Given the description of an element on the screen output the (x, y) to click on. 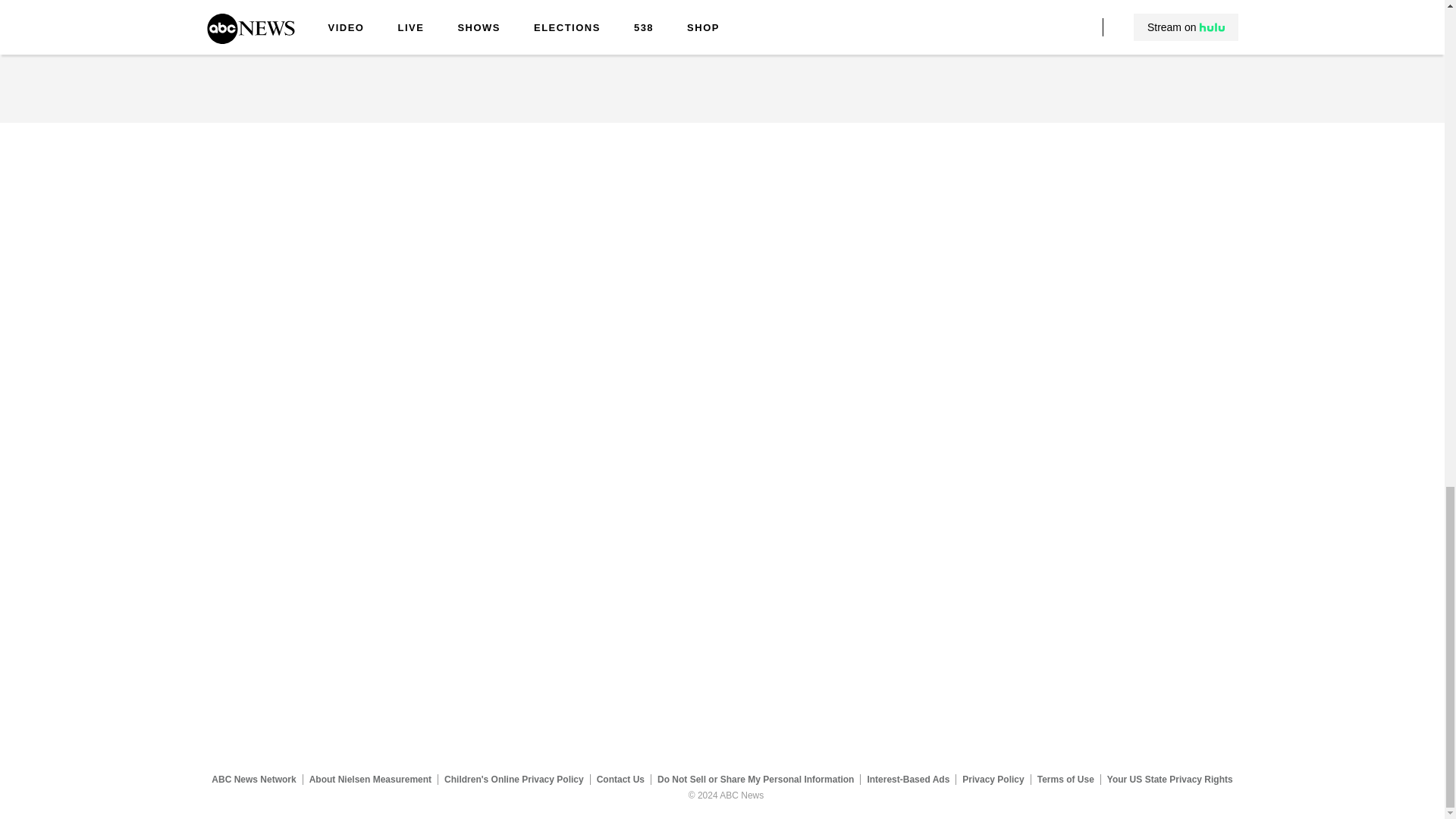
Interest-Based Ads (908, 778)
Do Not Sell or Share My Personal Information (755, 778)
Terms of Use (1065, 778)
Children's Online Privacy Policy (514, 778)
About Nielsen Measurement (370, 778)
Privacy Policy (993, 778)
ABC News Network (253, 778)
Your US State Privacy Rights (1169, 778)
Contact Us (620, 778)
